Given the description of an element on the screen output the (x, y) to click on. 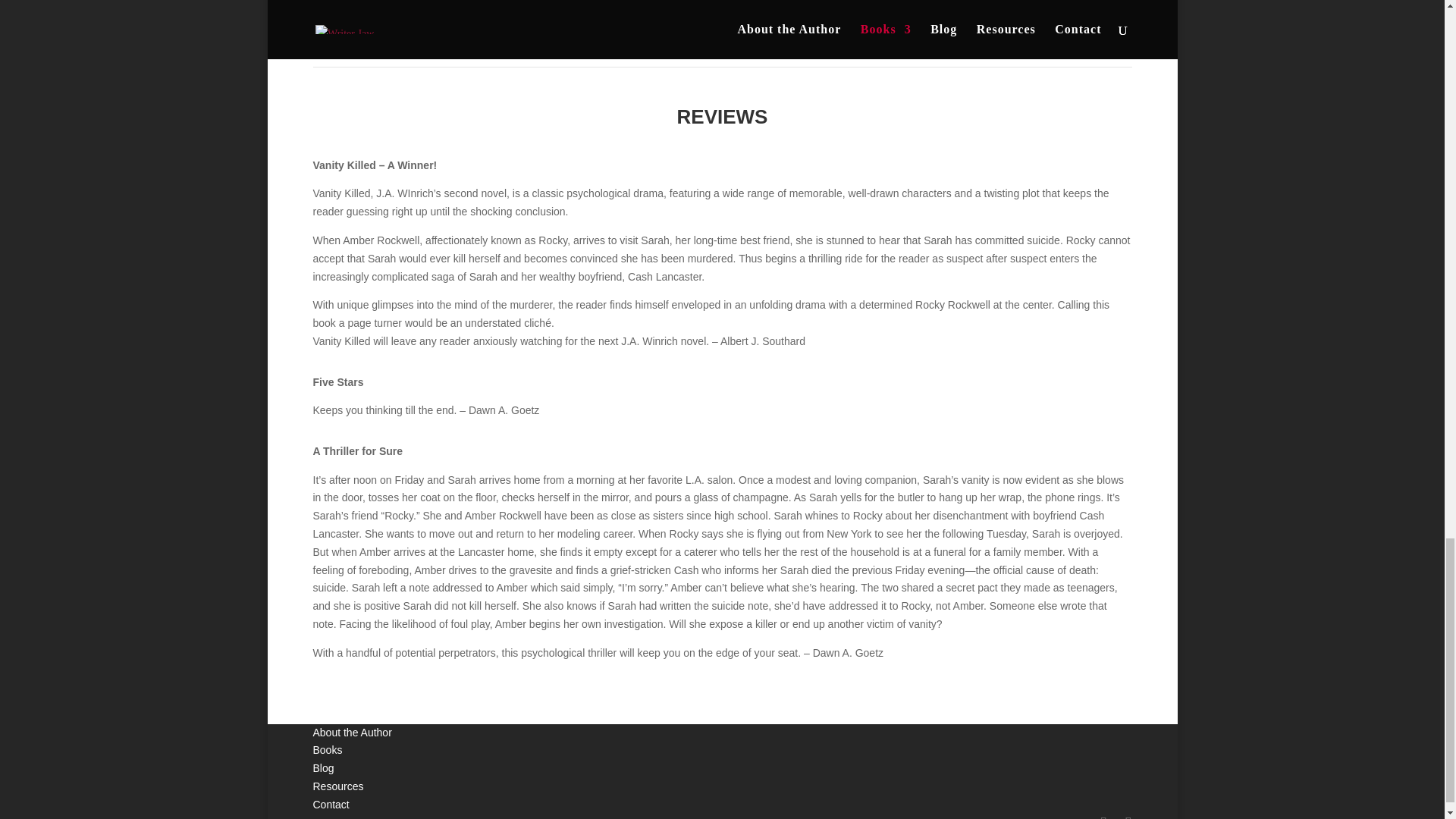
About the Author (352, 732)
Blog (323, 767)
Books (327, 749)
Contact (331, 804)
Resources (337, 786)
